Given the description of an element on the screen output the (x, y) to click on. 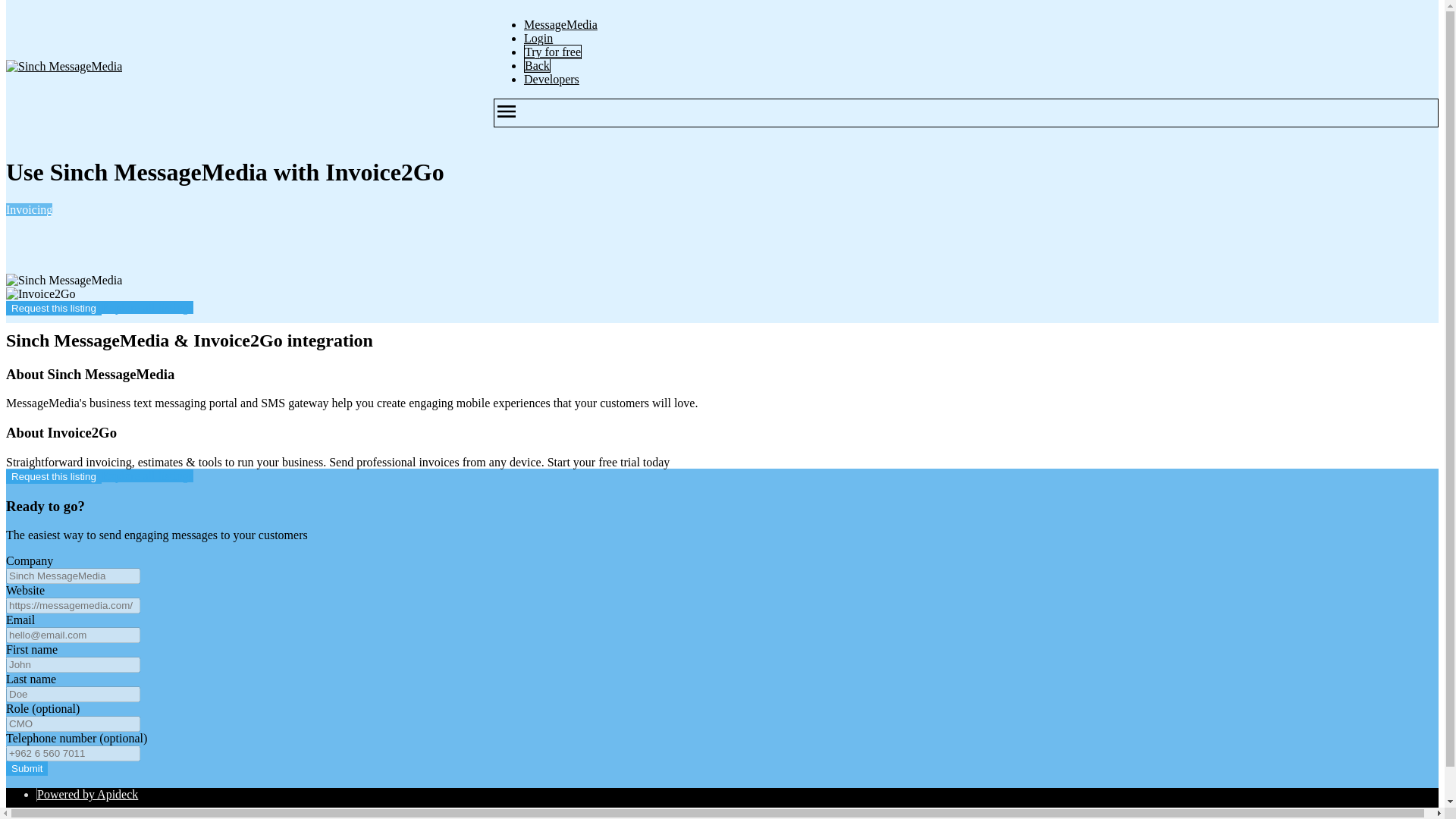
Explore all listings (147, 475)
Explore all listings (147, 307)
Powered by Apideck (87, 793)
Invoice2Go (40, 294)
Submit (26, 768)
MessageMedia (560, 24)
Sinch MessageMedia (63, 66)
Request this listing (53, 476)
Login (538, 38)
Sinch MessageMedia (63, 280)
